Given the description of an element on the screen output the (x, y) to click on. 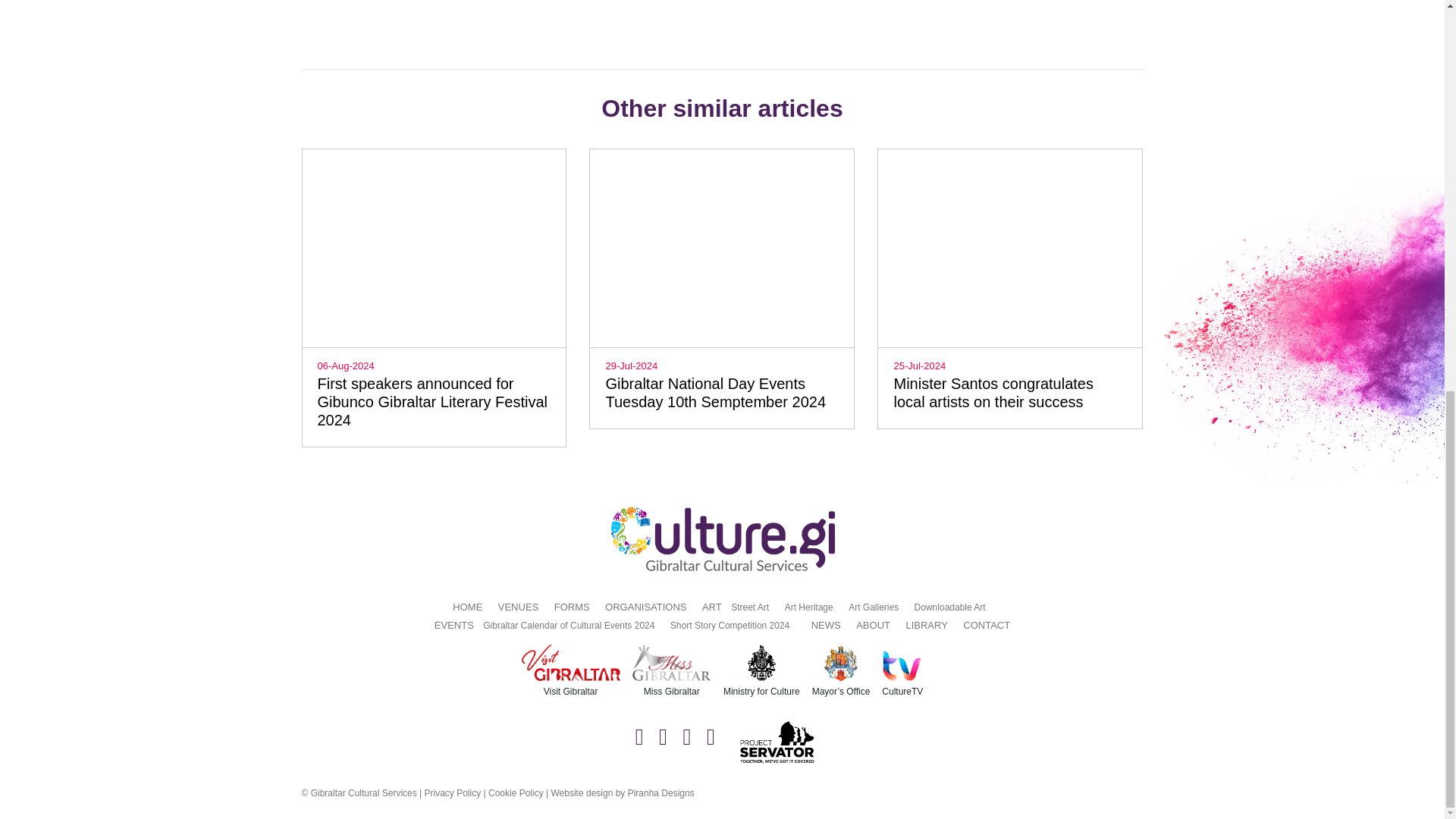
Gibraltar National Day Events Tuesday 10th Semptember 2024 (715, 392)
